Given the description of an element on the screen output the (x, y) to click on. 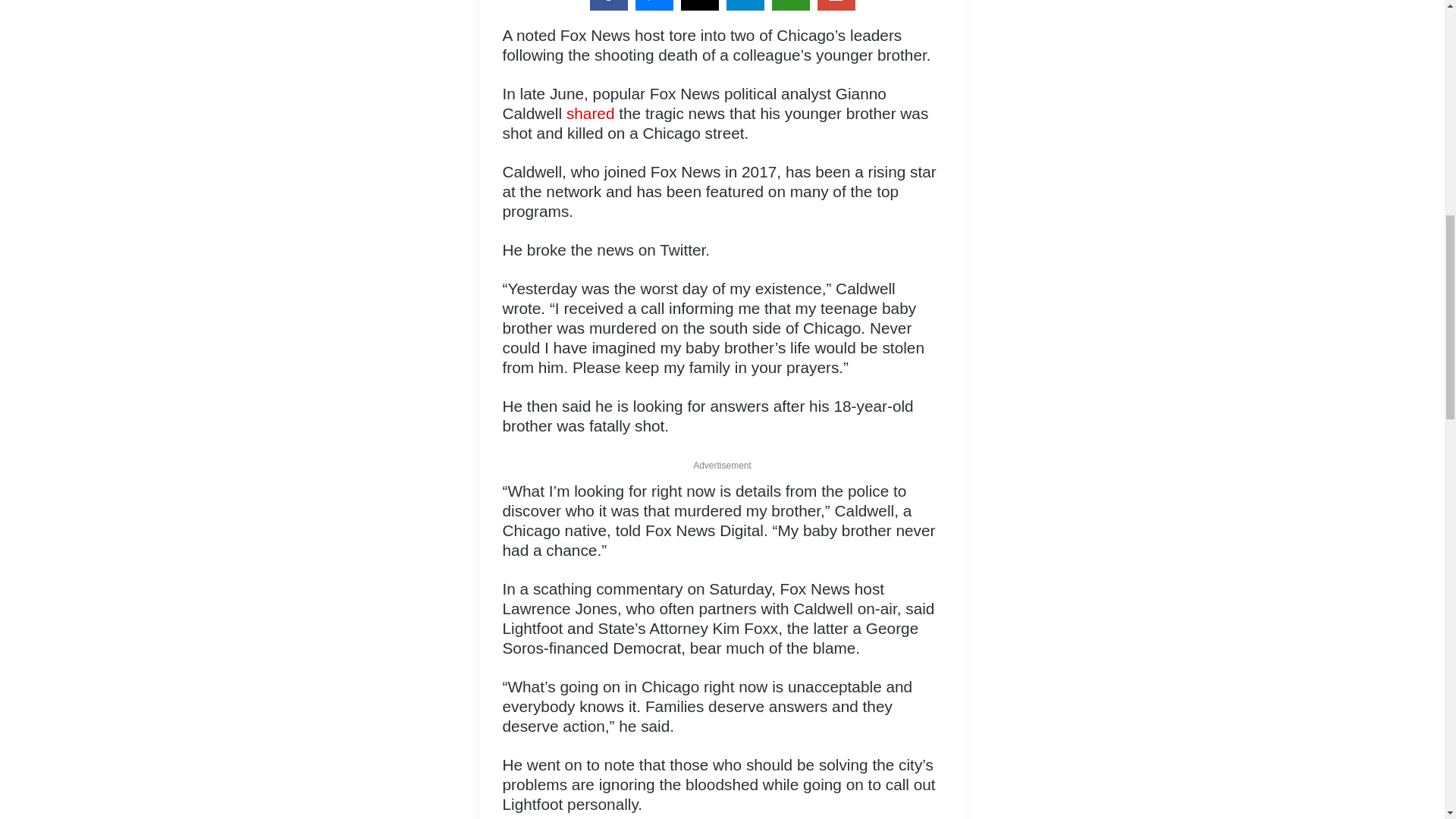
shared (590, 113)
